Given the description of an element on the screen output the (x, y) to click on. 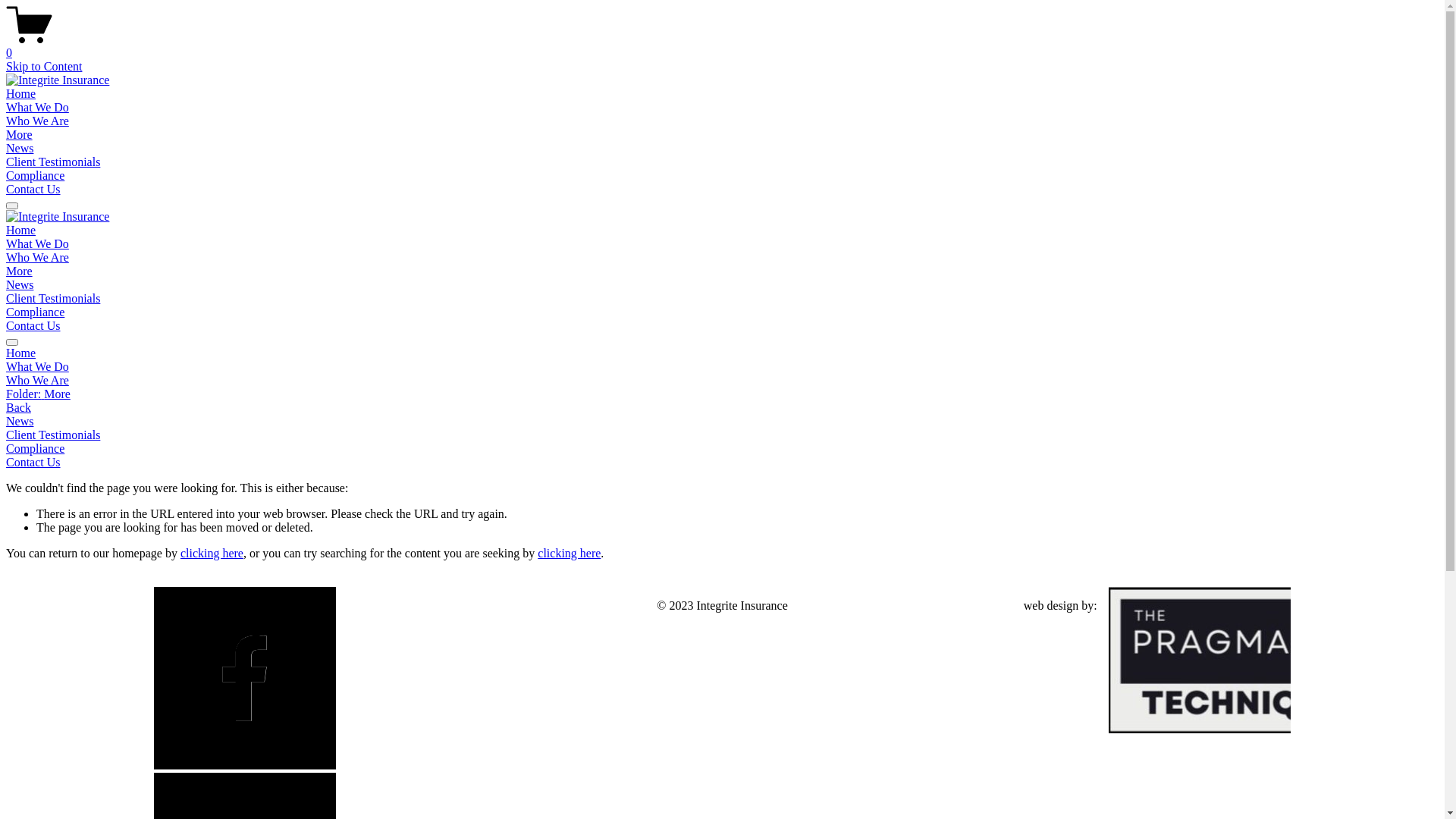
News Element type: text (19, 147)
Compliance Element type: text (35, 311)
clicking here Element type: text (568, 552)
What We Do Element type: text (37, 243)
Home Element type: text (20, 229)
Contact Us Element type: text (33, 188)
Folder: More Element type: text (722, 394)
Home Element type: text (722, 353)
Who We Are Element type: text (37, 120)
Home Element type: text (20, 93)
Compliance Element type: text (35, 175)
News Element type: text (722, 421)
Who We Are Element type: text (37, 379)
Client Testimonials Element type: text (53, 297)
Contact Us Element type: text (33, 461)
Skip to Content Element type: text (43, 65)
Contact Us Element type: text (33, 325)
Back Element type: text (18, 407)
Client Testimonials Element type: text (53, 161)
Compliance Element type: text (722, 448)
0 Element type: text (722, 45)
Client Testimonials Element type: text (53, 434)
Who We Are Element type: text (37, 257)
News Element type: text (19, 284)
More Element type: text (19, 134)
More Element type: text (19, 270)
What We Do Element type: text (37, 106)
What We Do Element type: text (37, 366)
clicking here Element type: text (211, 552)
